Given the description of an element on the screen output the (x, y) to click on. 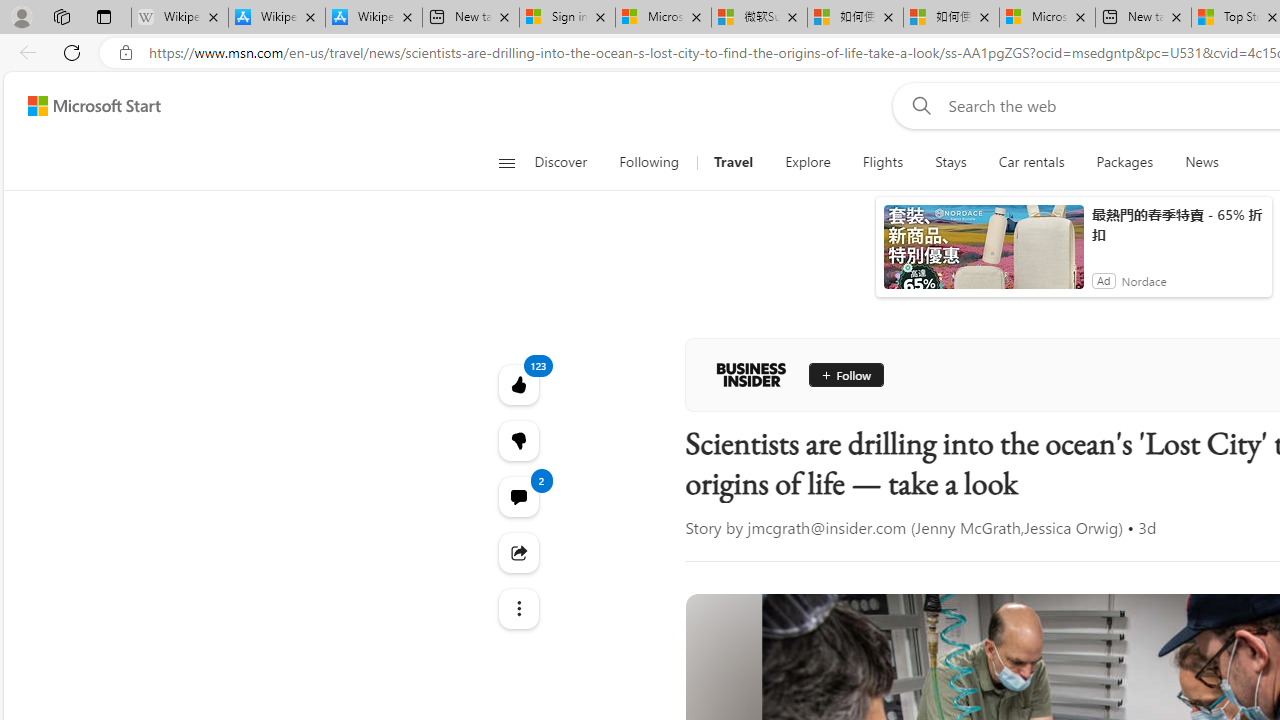
Packages (1124, 162)
Explore (807, 162)
Packages (1124, 162)
